Given the description of an element on the screen output the (x, y) to click on. 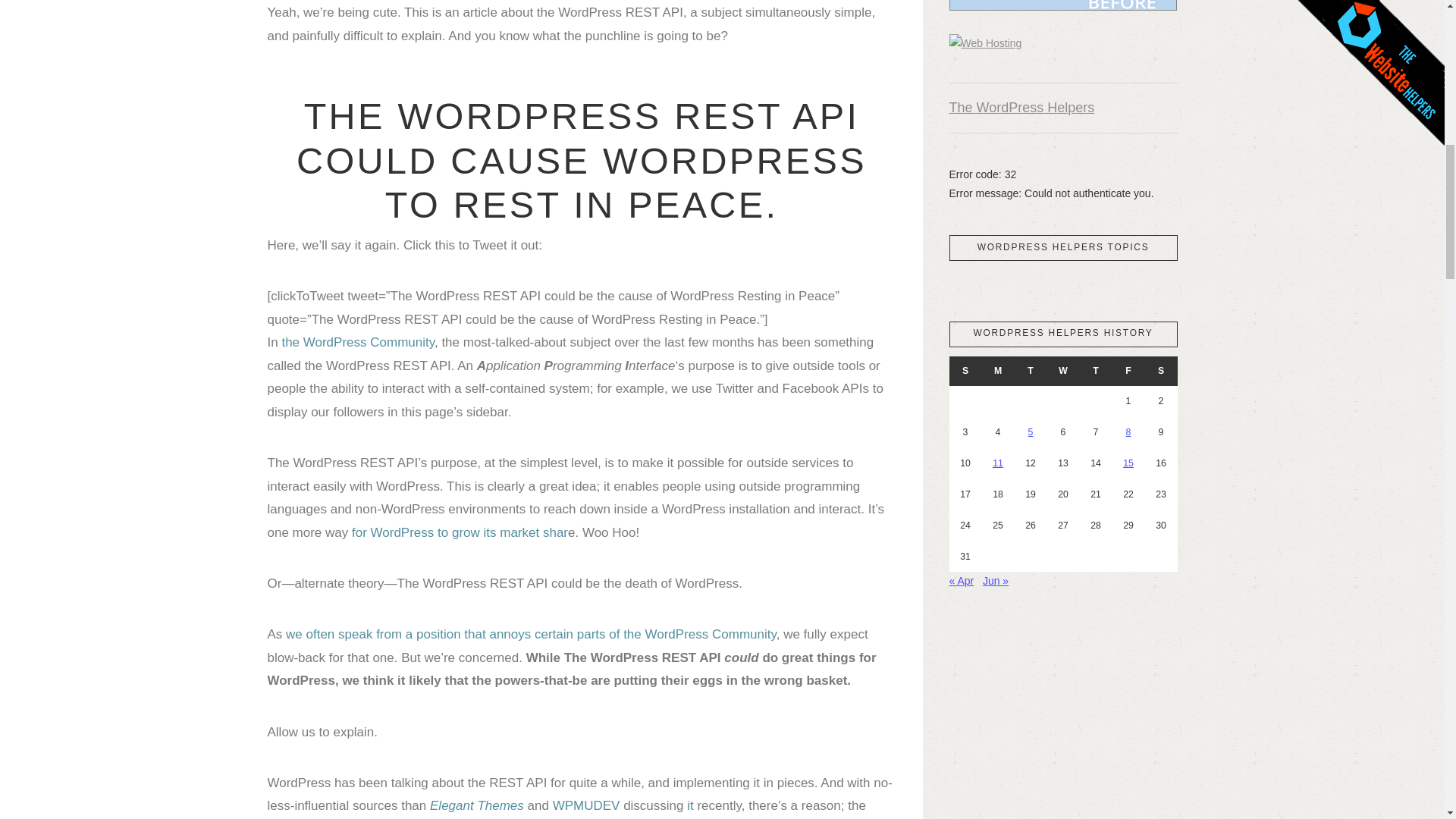
WordPress Market Share depends on Jetpack Market Share (459, 532)
The WordPress Community (357, 341)
WordPress Site Builders and User Count Fraud (586, 805)
Elegant Themes Affiliate Link (476, 805)
GEEK FIGHT in The WordPress Community (530, 634)
